Given the description of an element on the screen output the (x, y) to click on. 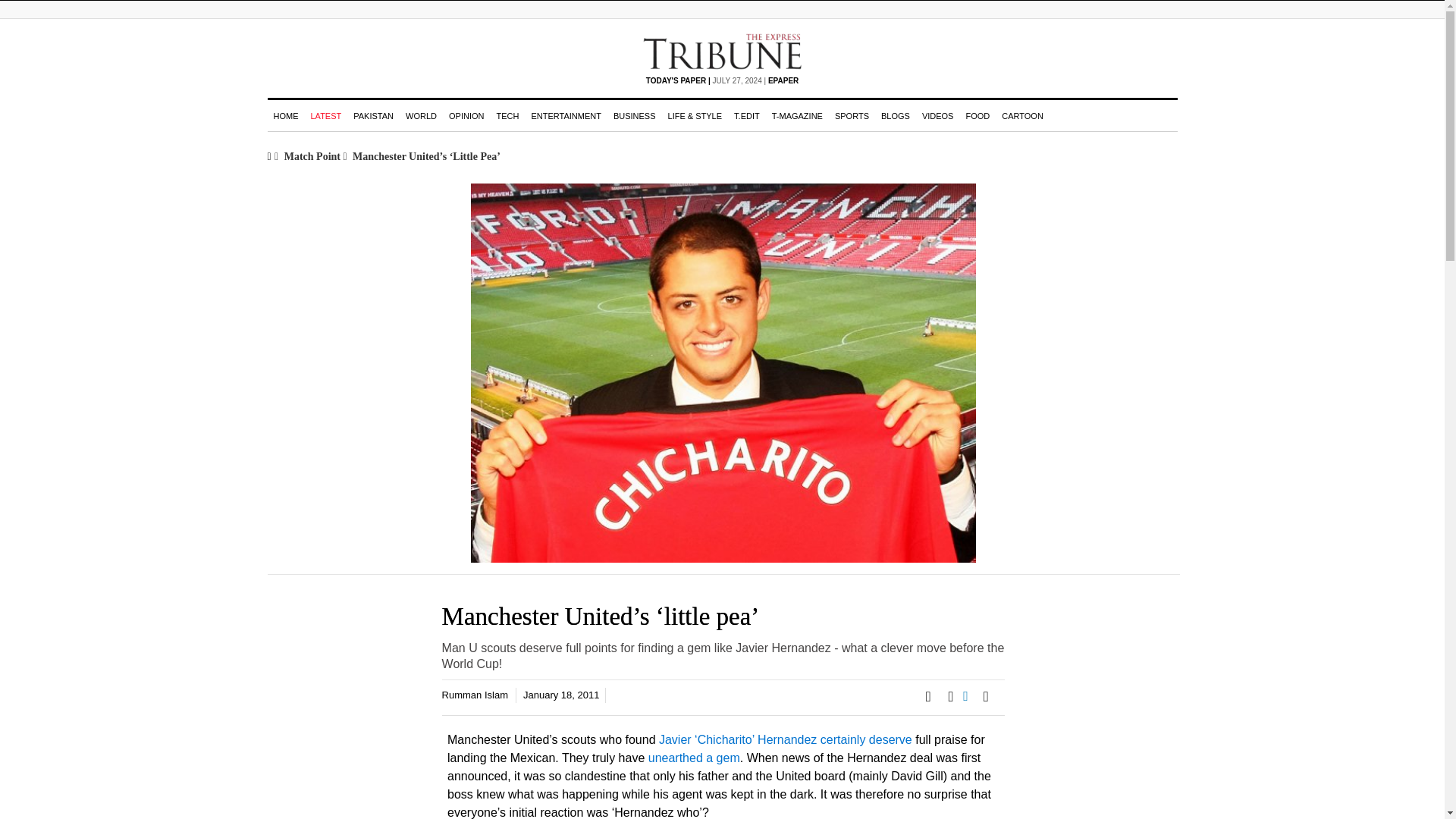
PAKISTAN (372, 114)
LATEST (325, 114)
FACEBOOK (933, 700)
unearthed a gem (693, 757)
HOME (285, 114)
T-MAGAZINE (796, 114)
T.EDIT (746, 114)
TWITTER (944, 700)
BUSINESS (634, 114)
OPINION (465, 114)
WHATSUP (956, 700)
CARTOON (1022, 114)
EPAPER (782, 80)
ENTERTAINMENT (565, 114)
WORLD (420, 114)
